Given the description of an element on the screen output the (x, y) to click on. 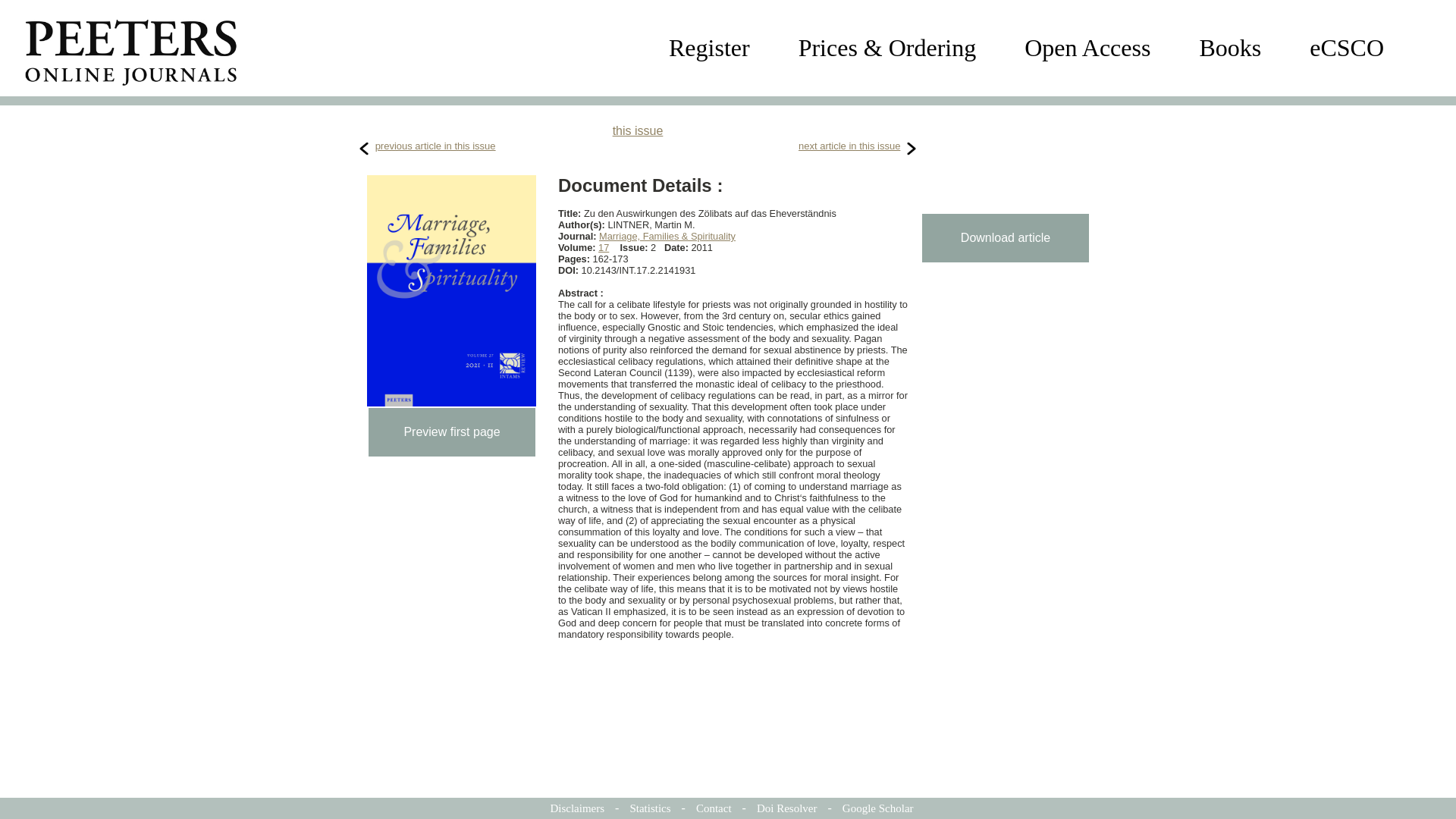
eCSCO (1346, 47)
Disclaimers (576, 807)
Register (708, 47)
Google Scholar (877, 807)
previous article in this issue (435, 145)
Contact (713, 807)
Download article (1005, 237)
Open Access (1087, 47)
Doi Resolver (787, 807)
17 (603, 247)
this issue (637, 130)
Books (1229, 47)
Statistics (649, 807)
next article in this issue (848, 145)
